Given the description of an element on the screen output the (x, y) to click on. 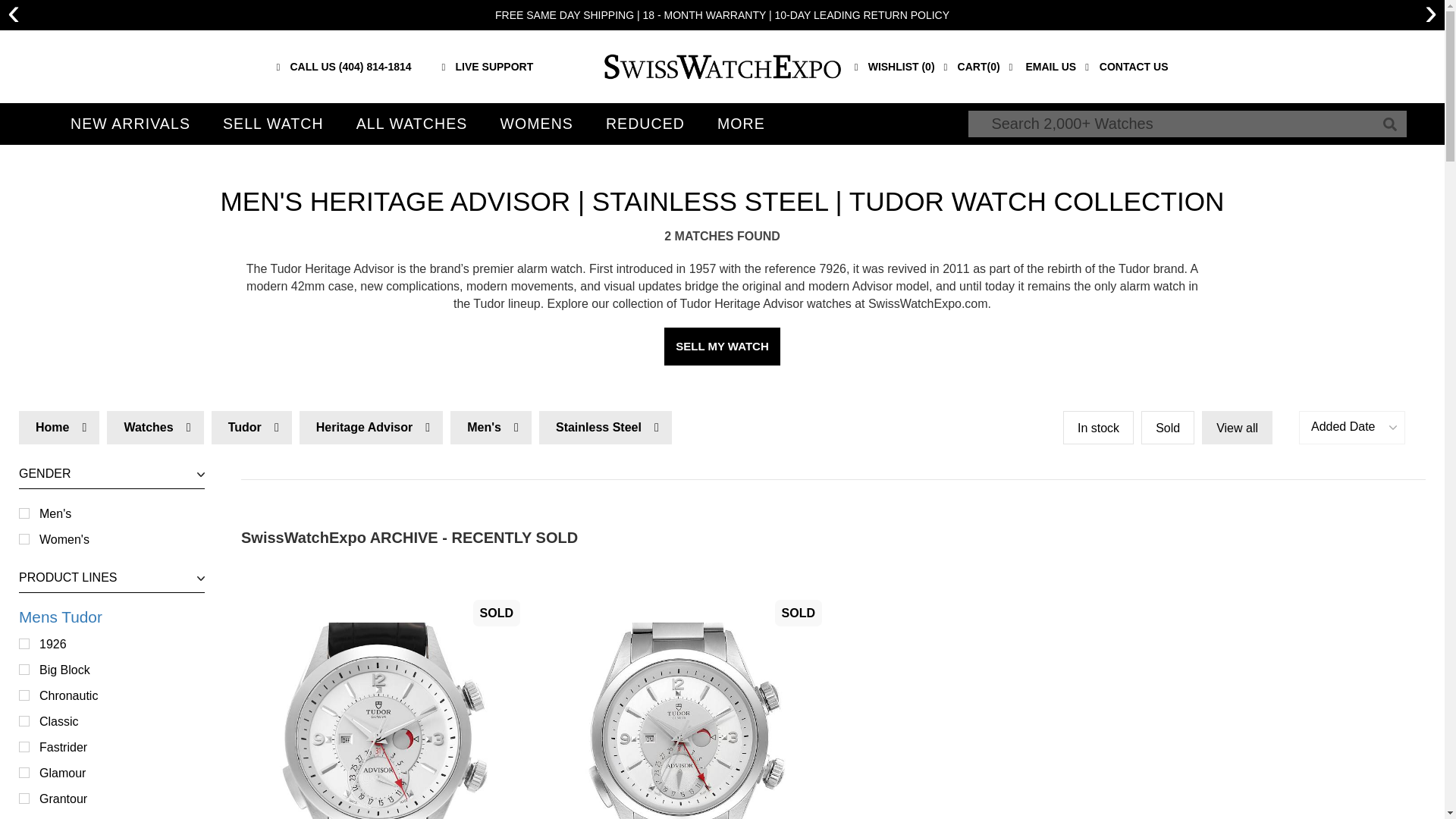
EMAIL US (1043, 66)
CONTACT US (1125, 66)
Added Date (1351, 427)
Previous (111, 525)
Search (111, 525)
LIVE SUPPORT (13, 15)
Search (1389, 123)
NEW ARRIVALS (488, 66)
